Given the description of an element on the screen output the (x, y) to click on. 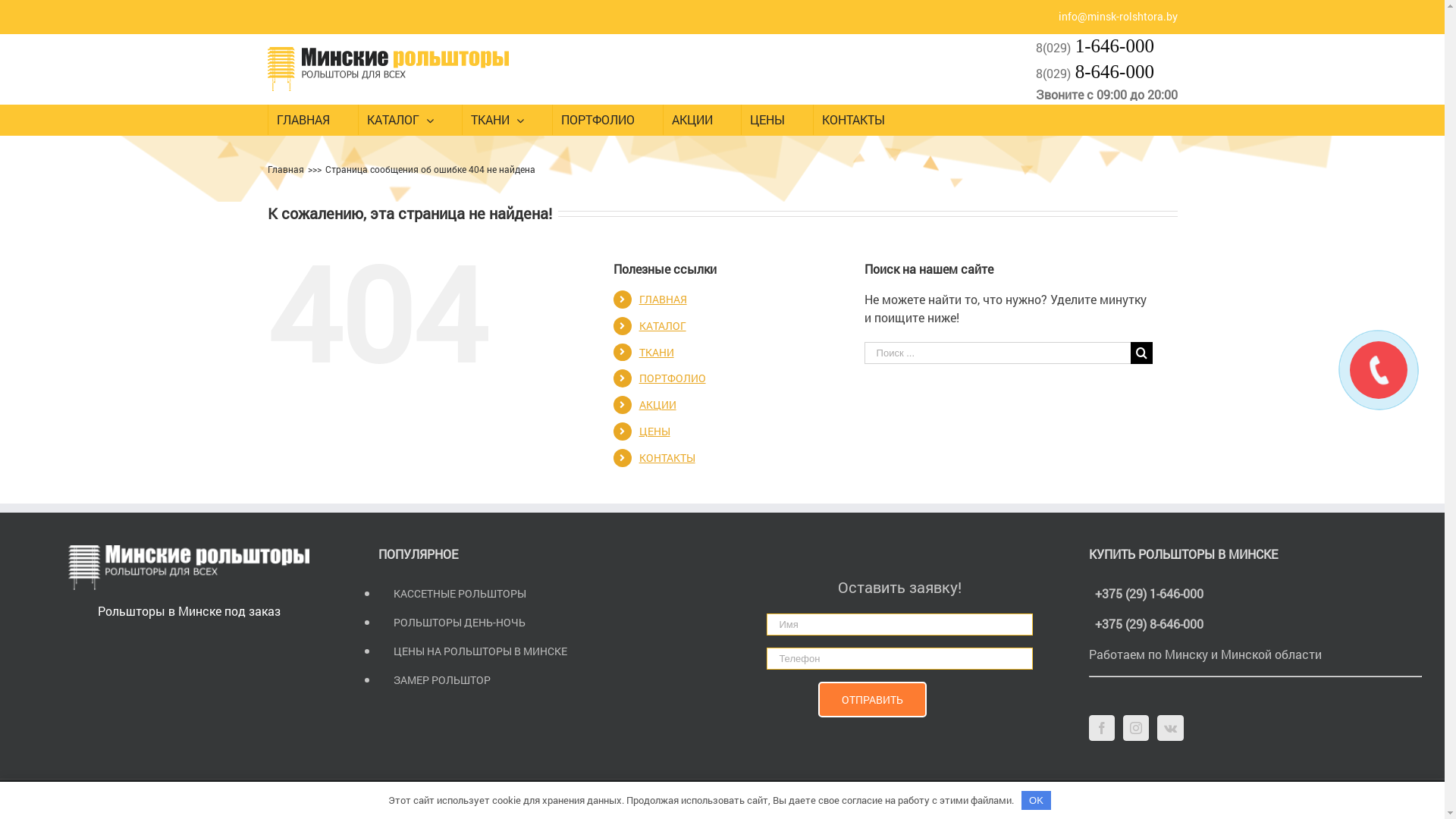
8(029) 1-646-000 Element type: text (1094, 46)
8(029) 8-646-000 Element type: text (1094, 72)
OK Element type: text (1036, 799)
info@minsk-rolshtora.by Element type: text (1117, 16)
